Given the description of an element on the screen output the (x, y) to click on. 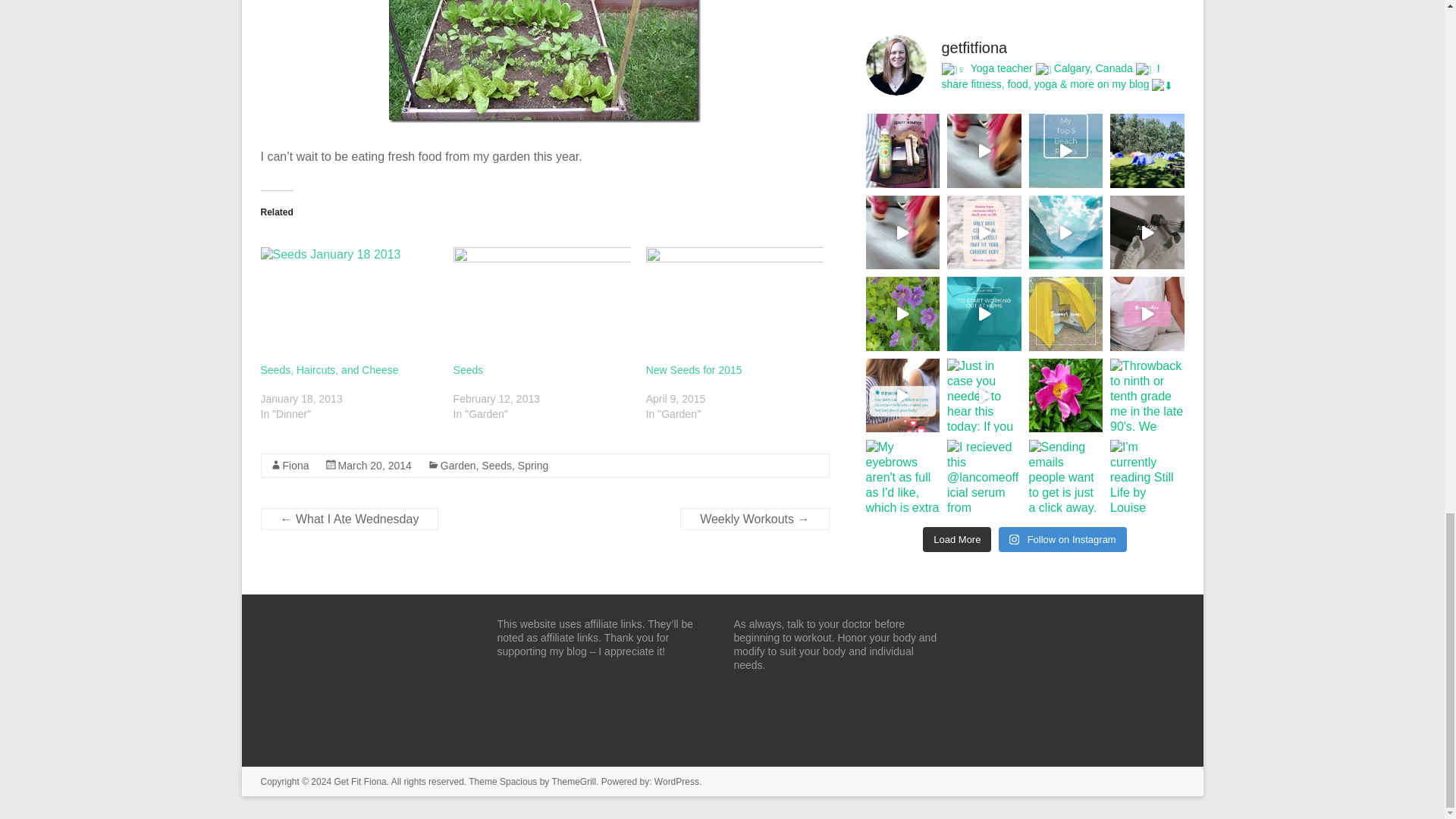
New Seeds for 2015 (694, 369)
March 20, 2014 (374, 465)
6:25 pm (374, 465)
Seeds, Haircuts, and Cheese (349, 297)
Spacious (518, 781)
New Seeds for 2015 (735, 297)
Garden (458, 465)
Seeds (541, 297)
Seeds, Haircuts, and Cheese (329, 369)
Seeds (467, 369)
